Given the description of an element on the screen output the (x, y) to click on. 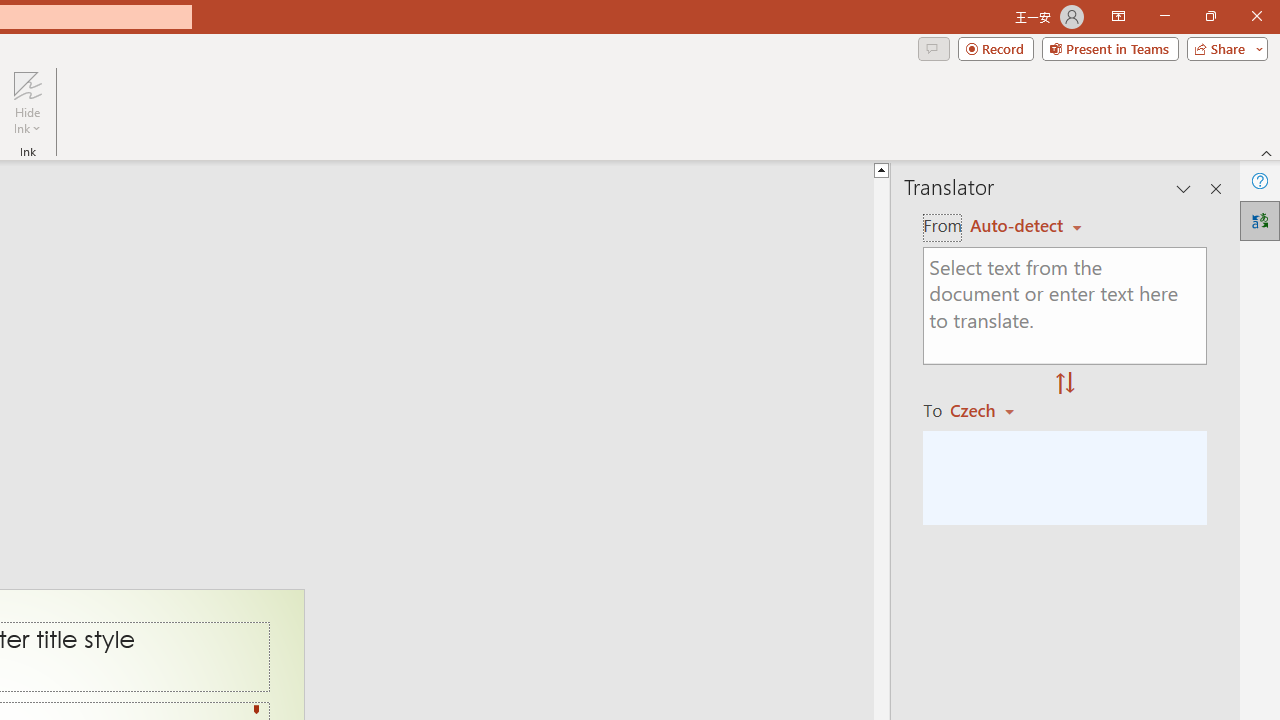
English (1025, 225)
